Given the description of an element on the screen output the (x, y) to click on. 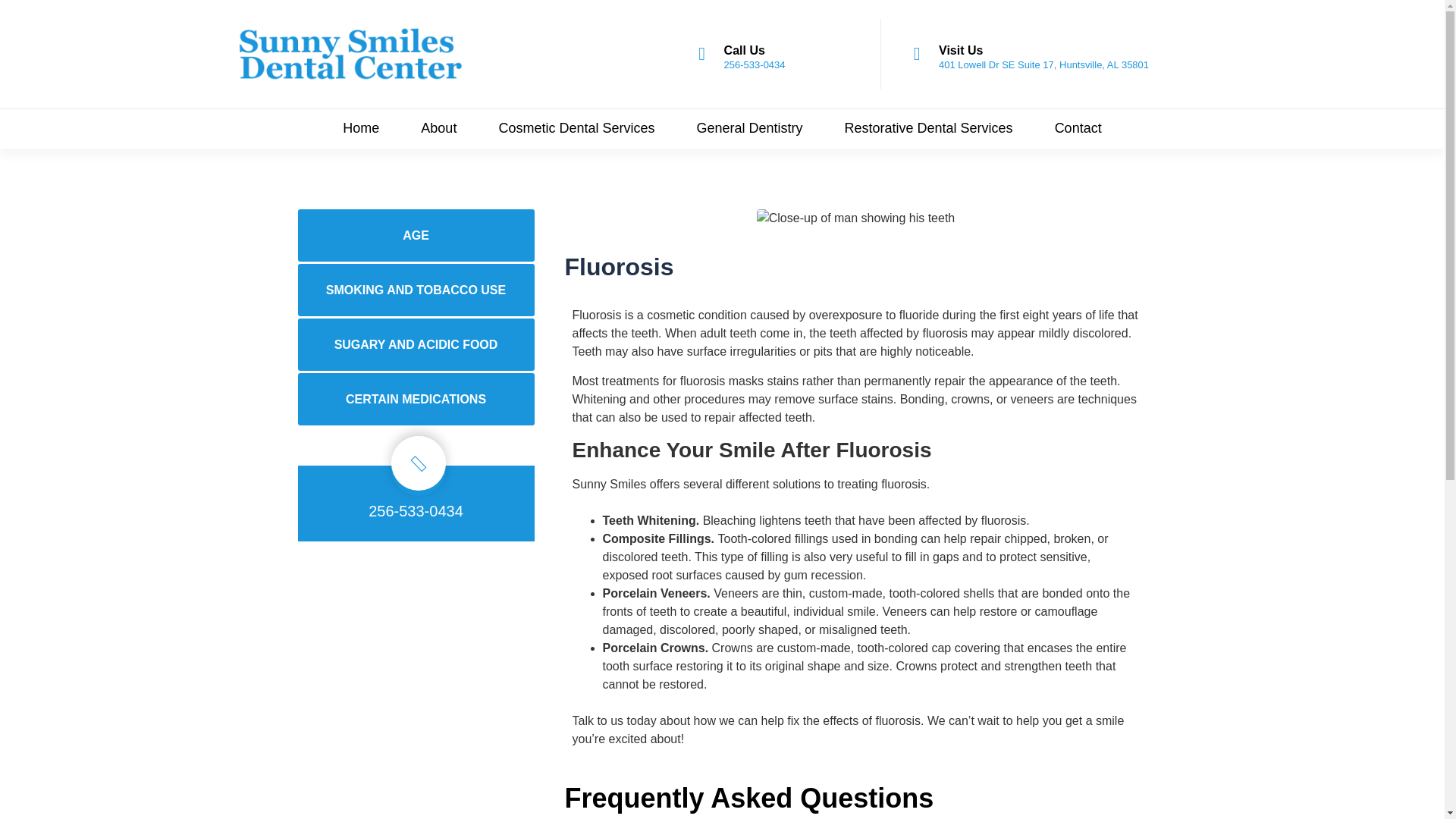
Visit Us (960, 50)
AGE (415, 235)
256-533-0434 (754, 64)
About (438, 128)
Contact (1077, 128)
Cosmetic Dental Services (576, 128)
SMOKING AND TOBACCO USE (415, 289)
Man showing his teeth (856, 218)
SUGARY AND ACIDIC FOOD (415, 344)
General Dentistry (748, 128)
